Given the description of an element on the screen output the (x, y) to click on. 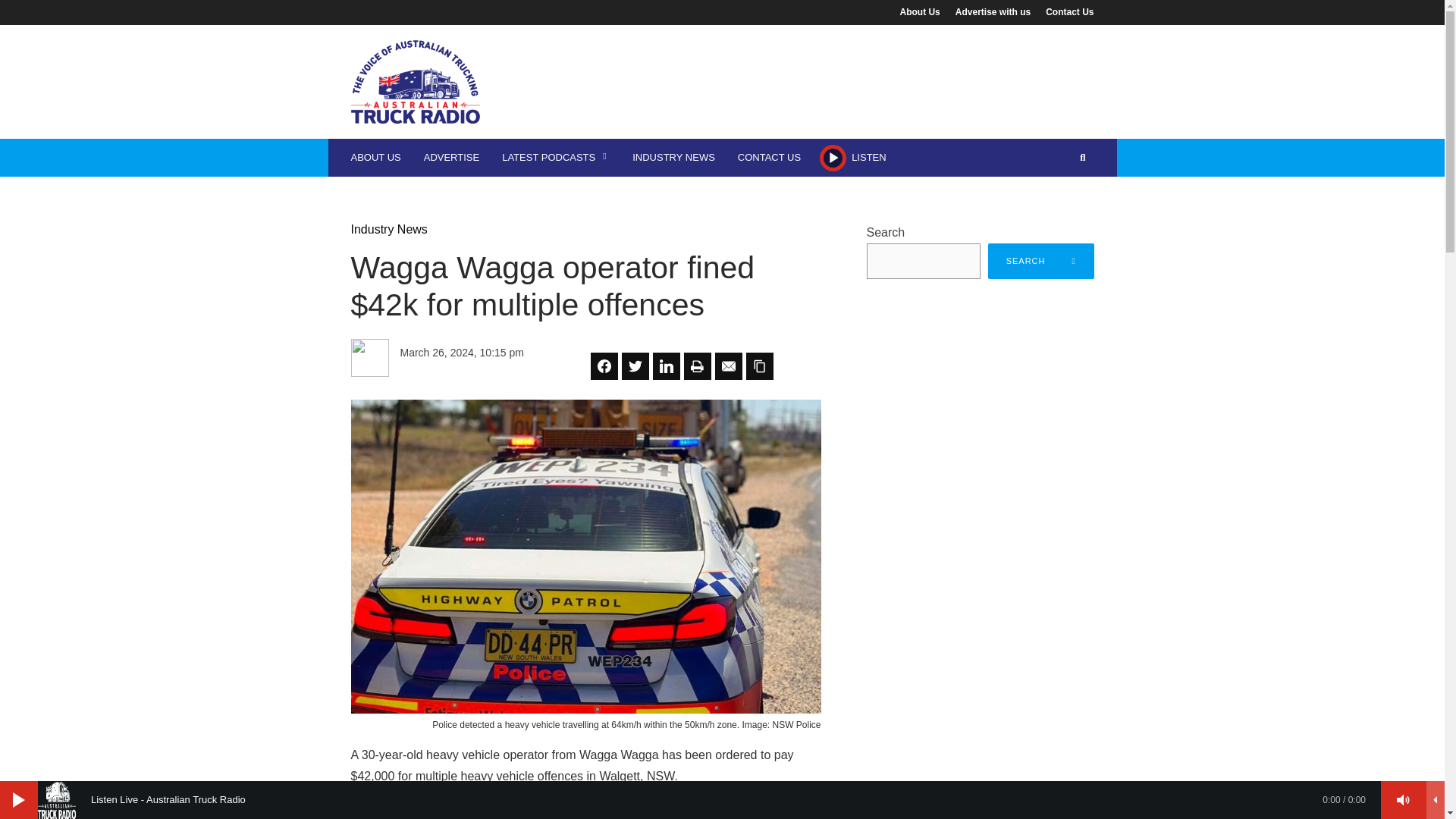
SEARCH (1041, 261)
Share on Copy Link (759, 366)
Share on LinkedIn (665, 366)
Share on Print (697, 366)
INDUSTRY NEWS (673, 157)
Share on Twitter (635, 366)
3rd party ad content (817, 74)
About Us (923, 11)
View all posts by  (465, 342)
ABOUT US (375, 157)
Contact Us (1065, 11)
Industry News (388, 228)
ADVERTISE (451, 157)
Share on Facebook (604, 366)
